Given the description of an element on the screen output the (x, y) to click on. 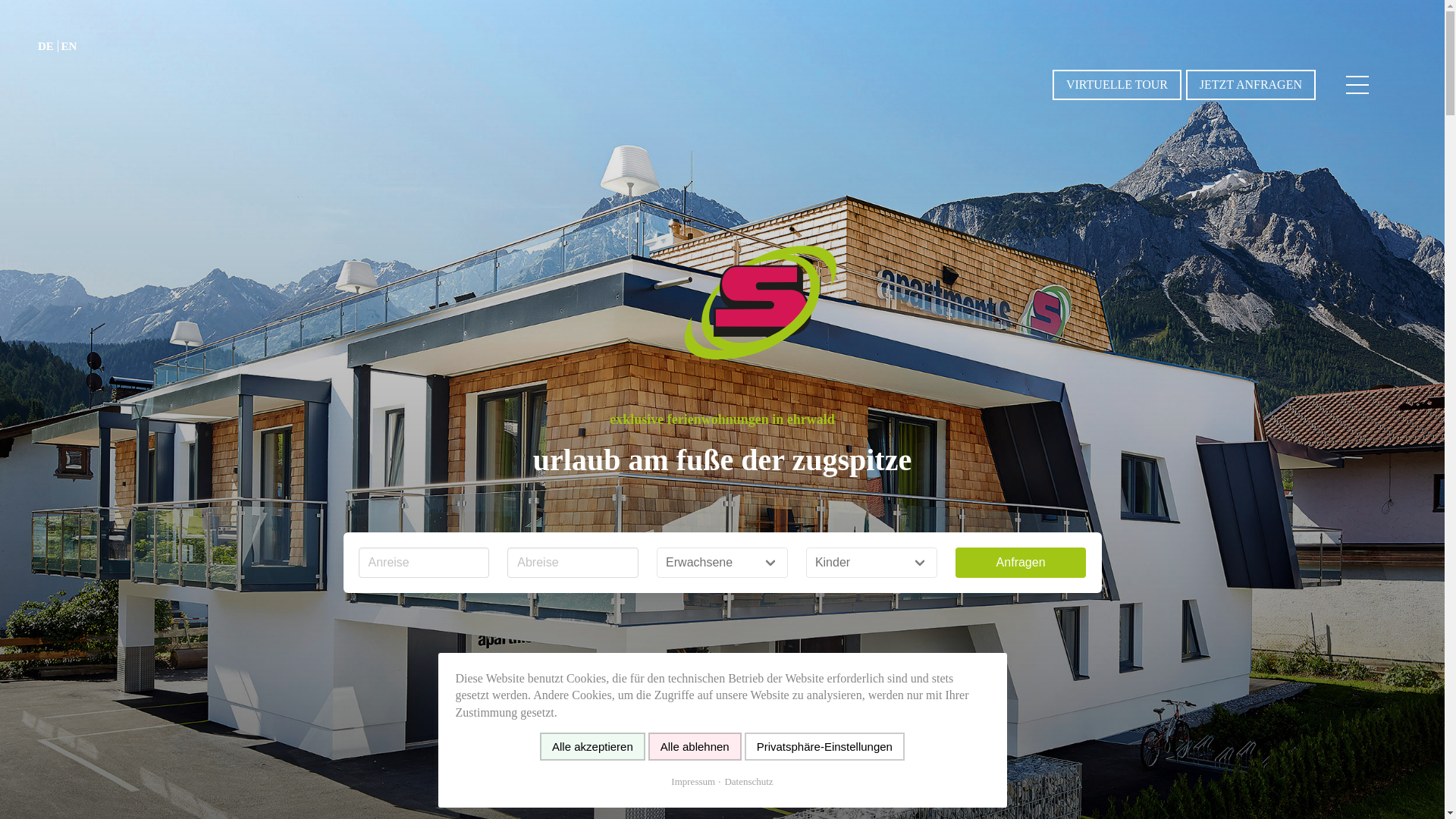
Anfragen (1020, 562)
JETZT ANFRAGEN (1251, 84)
EN (69, 46)
VIRTUELLE TOUR (1116, 84)
